Given the description of an element on the screen output the (x, y) to click on. 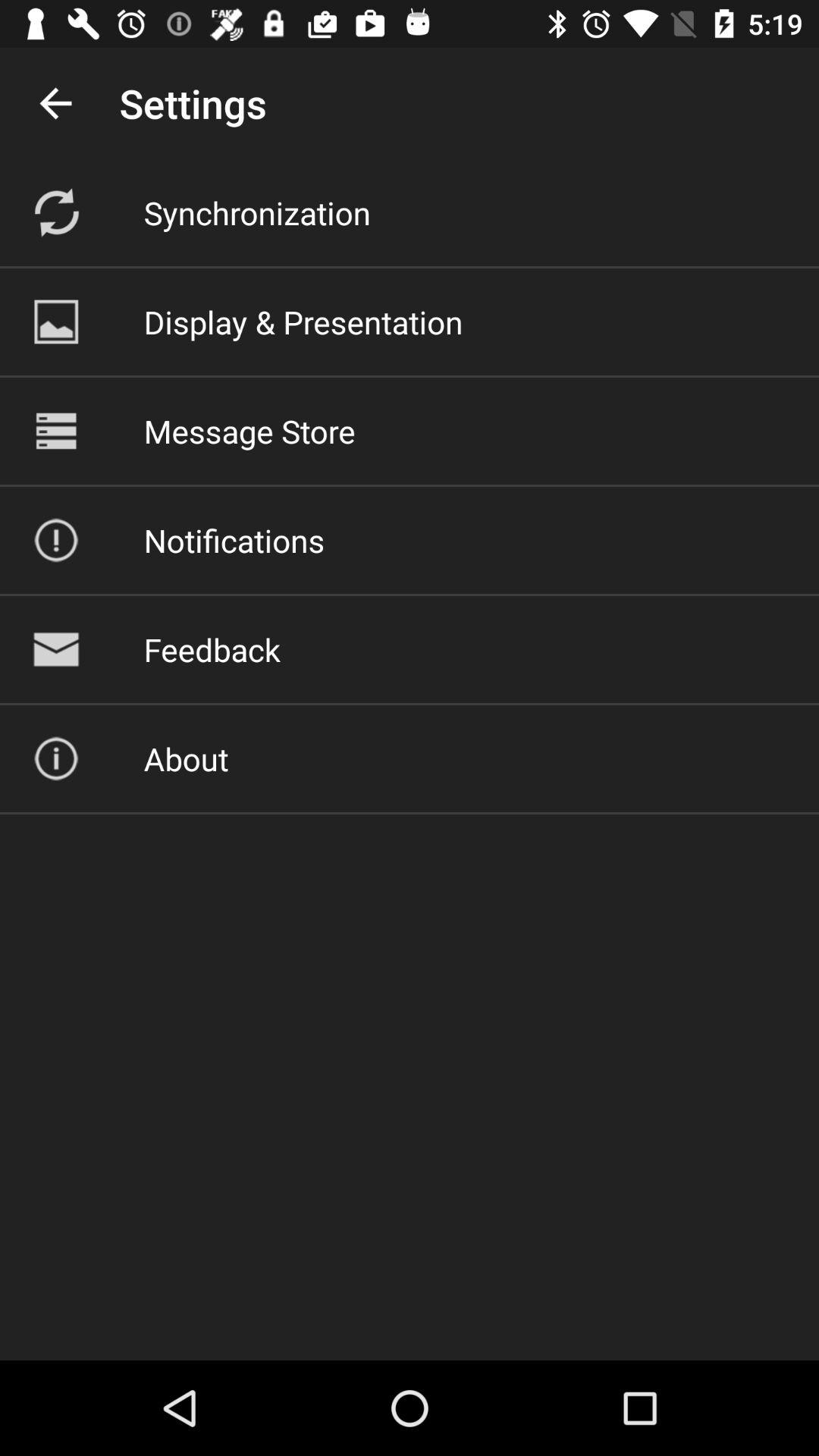
choose the item to the left of settings item (55, 103)
